Given the description of an element on the screen output the (x, y) to click on. 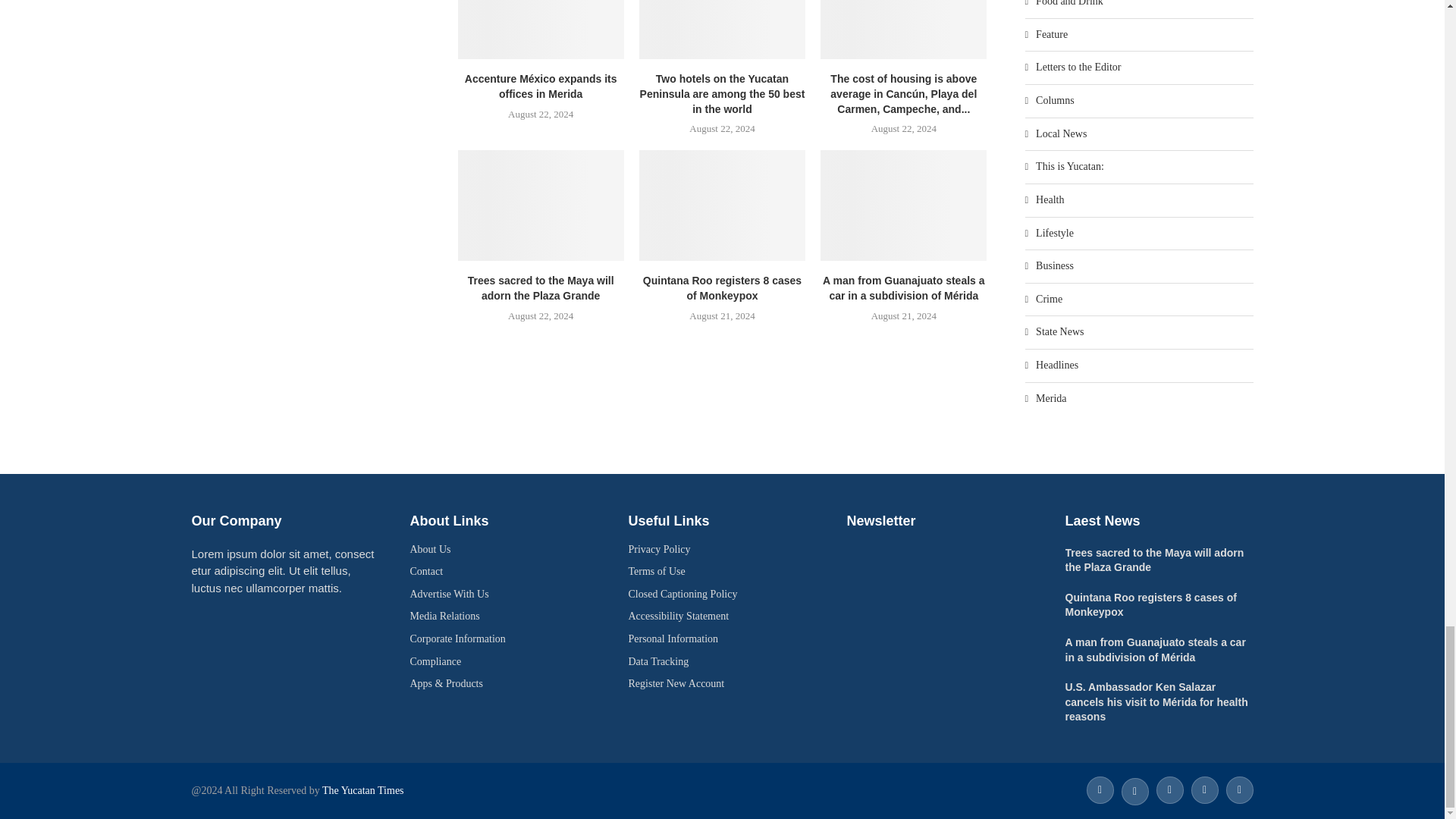
Quintana Roo registers 8 cases of Monkeypox (722, 205)
Trees sacred to the Maya will adorn the Plaza Grande (541, 205)
